Given the description of an element on the screen output the (x, y) to click on. 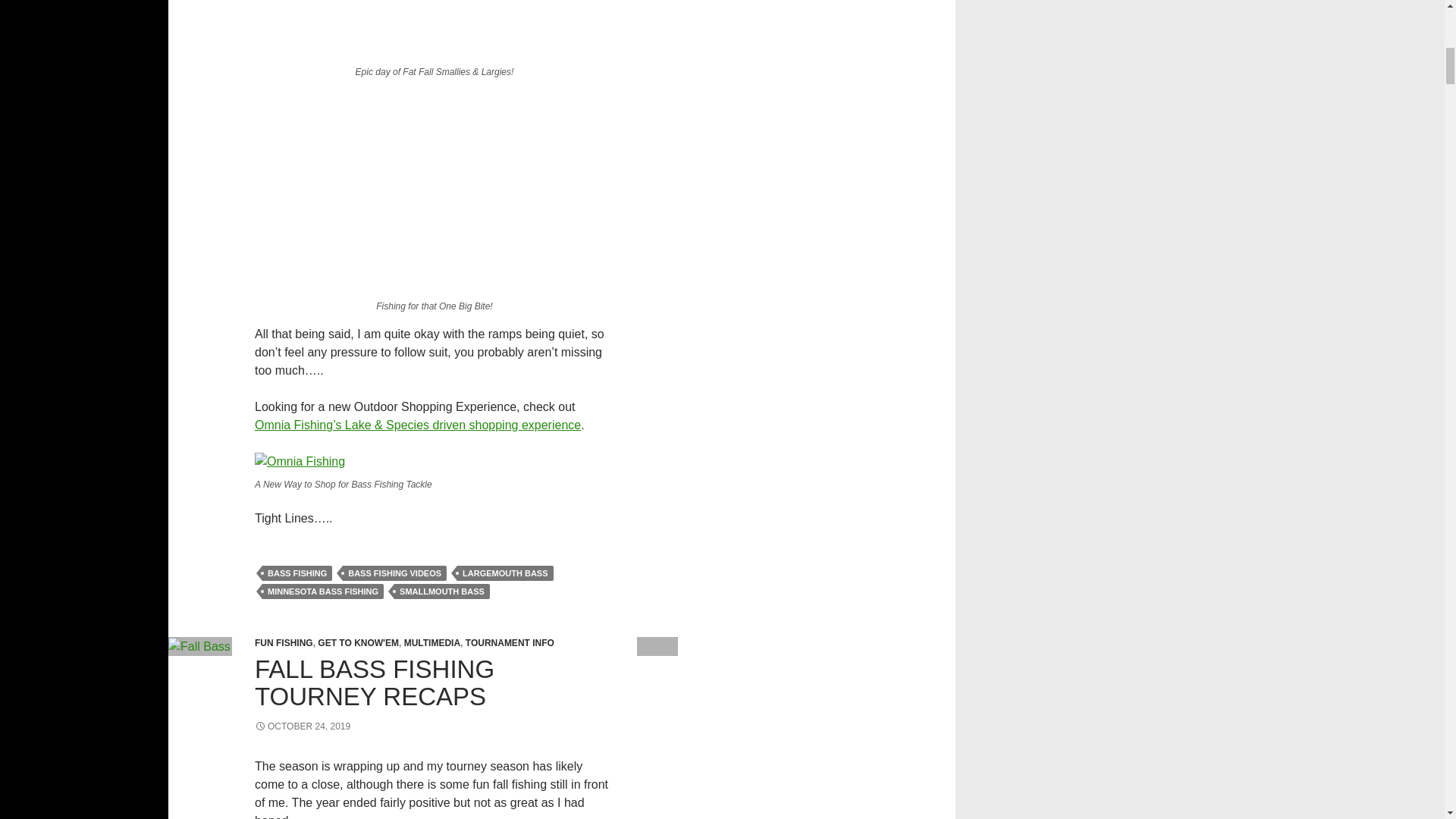
BASS FISHING (296, 572)
GET TO KNOW'EM (357, 643)
MULTIMEDIA (432, 643)
MINNESOTA BASS FISHING (323, 590)
SMALLMOUTH BASS (441, 590)
LARGEMOUTH BASS (505, 572)
PB ALERT - Most EPIC Day of Fall Bass Fishing Ever! MEGA BAG (434, 29)
FUN FISHING (283, 643)
OCTOBER 24, 2019 (302, 726)
TOURNAMENT INFO (509, 643)
